Given the description of an element on the screen output the (x, y) to click on. 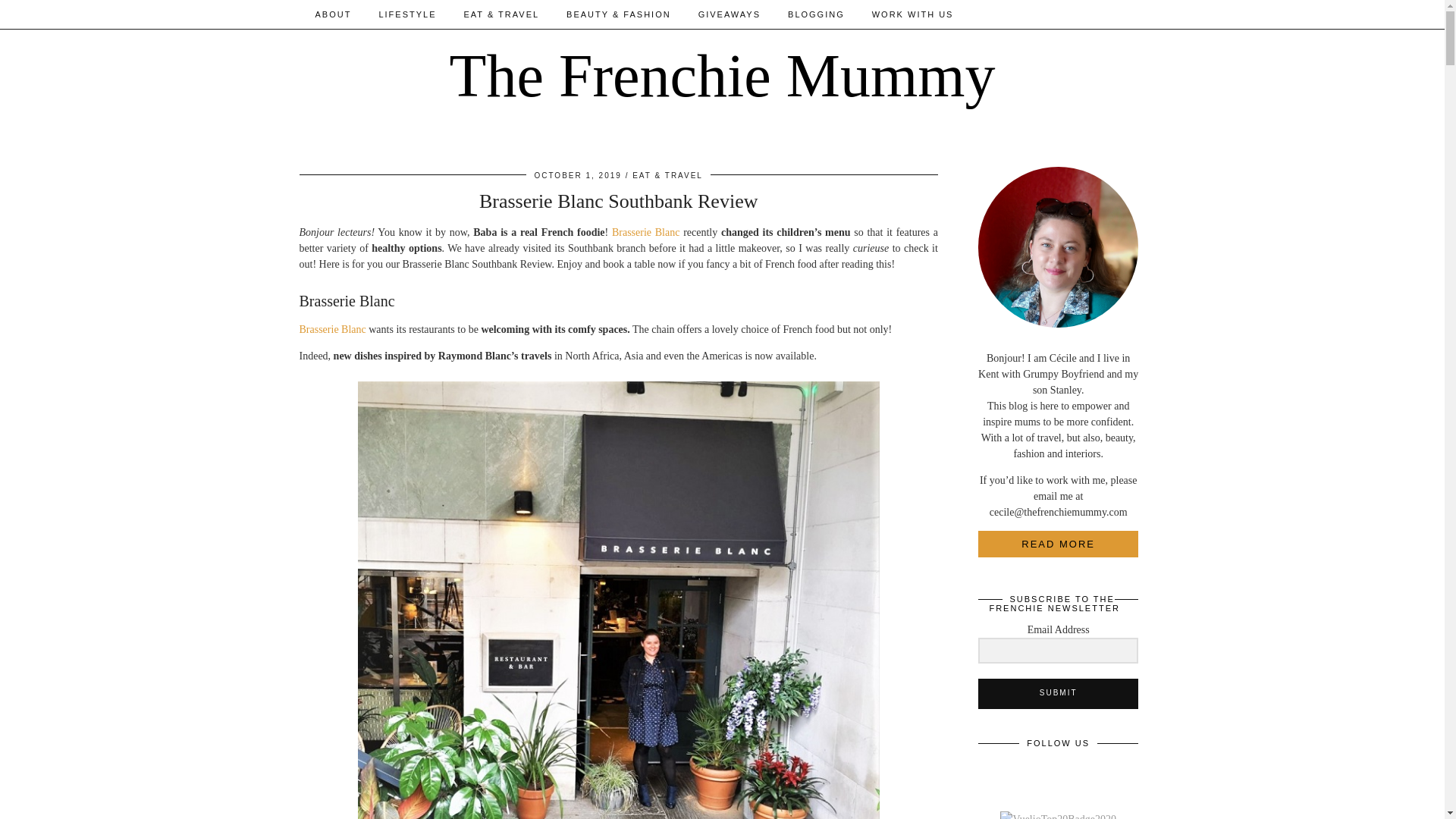
ABOUT (333, 14)
The Frenchie Mummy (722, 75)
LIFESTYLE (407, 14)
Brasserie Blanc (646, 232)
Brasserie Blanc (331, 328)
GIVEAWAYS (729, 14)
The Frenchie Mummy (722, 75)
WORK WITH US (913, 14)
BLOGGING (816, 14)
